Given the description of an element on the screen output the (x, y) to click on. 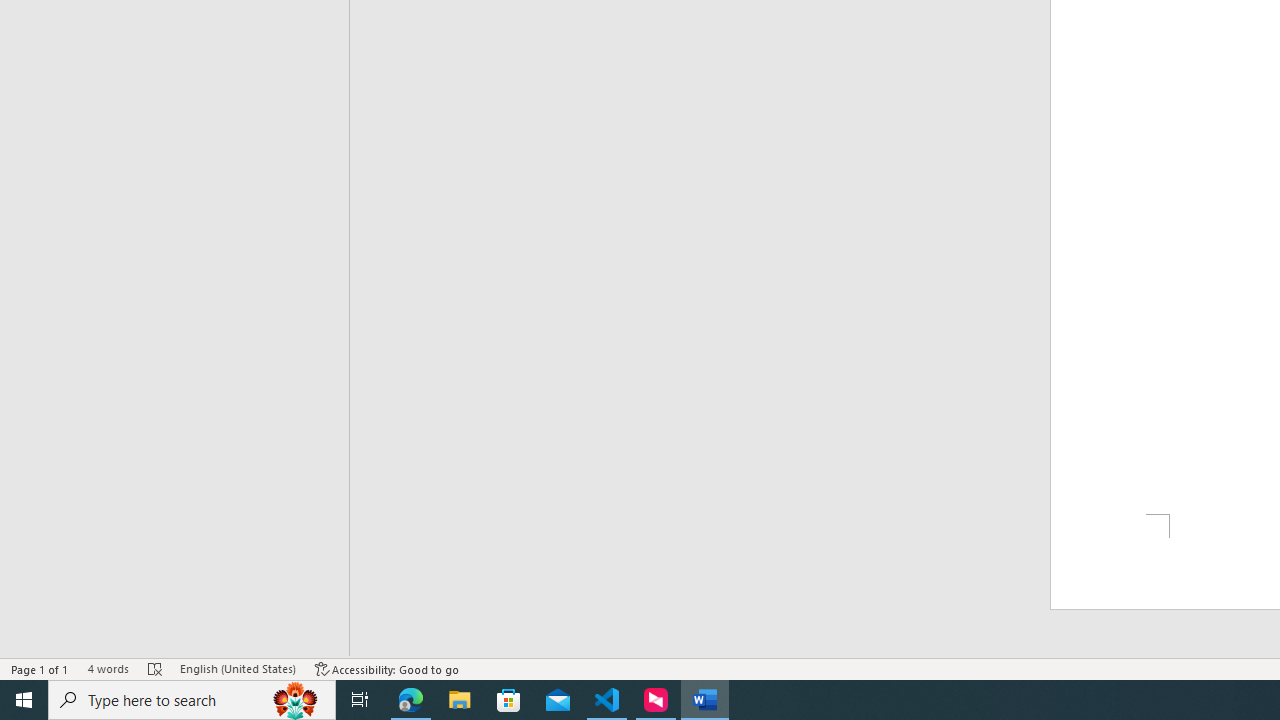
Spelling and Grammar Check Errors (155, 668)
Page Number Page 1 of 1 (39, 668)
Language English (United States) (237, 668)
Accessibility Checker Accessibility: Good to go (387, 668)
